Given the description of an element on the screen output the (x, y) to click on. 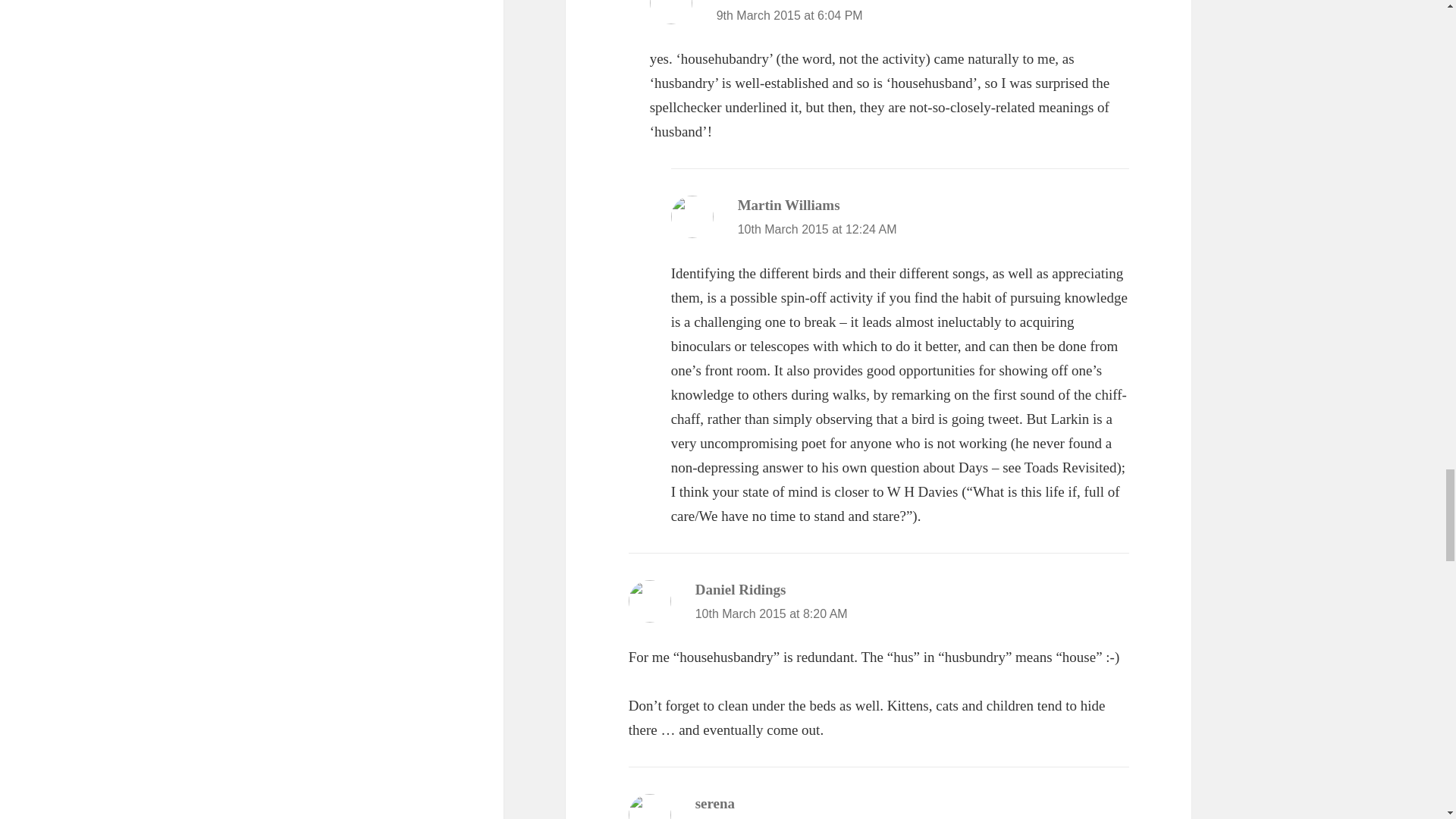
10th March 2015 at 12:24 AM (817, 228)
10th March 2015 at 8:20 AM (771, 613)
9th March 2015 at 6:04 PM (789, 15)
